Given the description of an element on the screen output the (x, y) to click on. 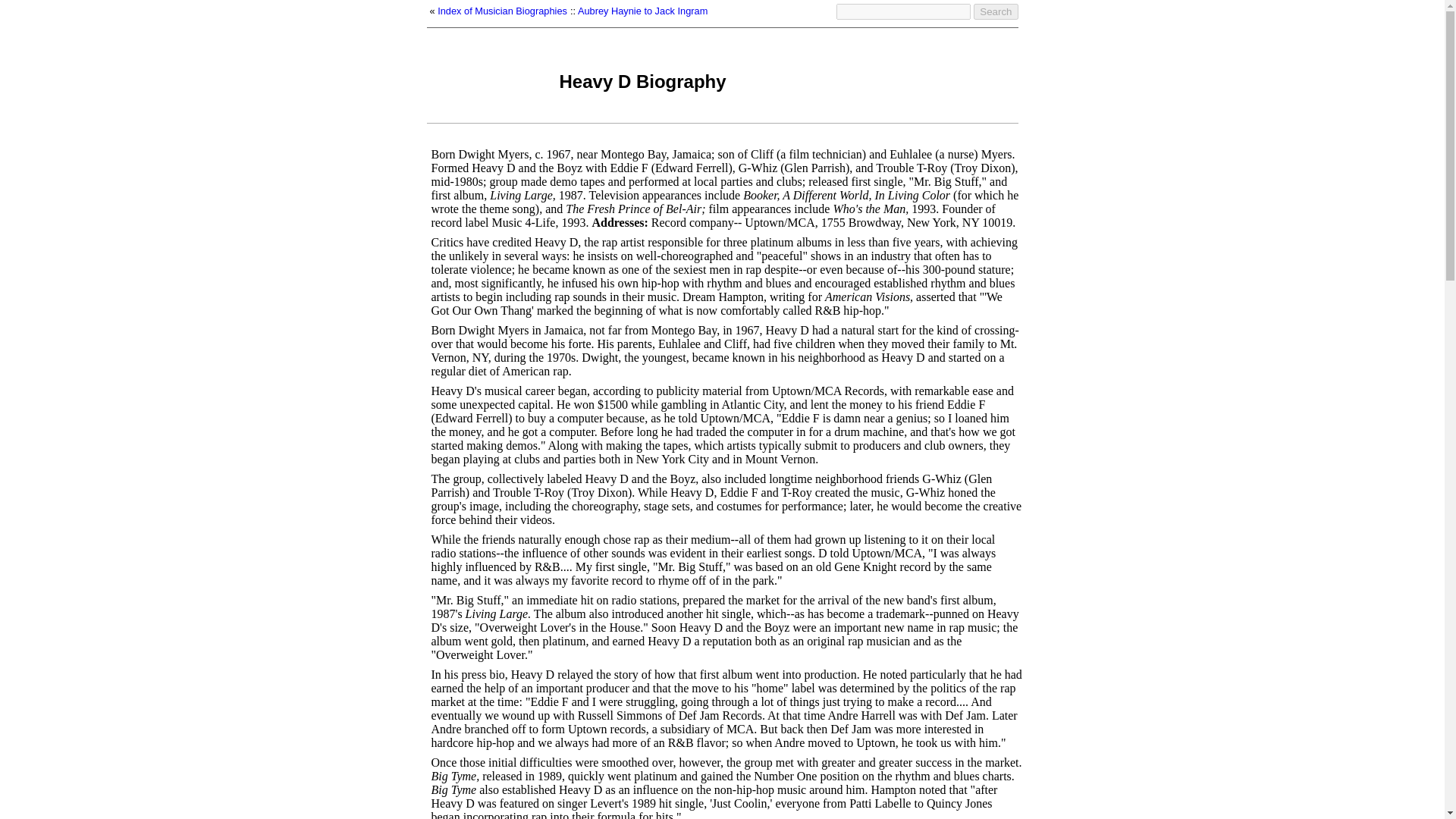
Search (995, 11)
Search (995, 11)
Search Musicians (903, 11)
Index of Musician Biographies (502, 10)
Aubrey Haynie to Jack Ingram (642, 10)
